Given the description of an element on the screen output the (x, y) to click on. 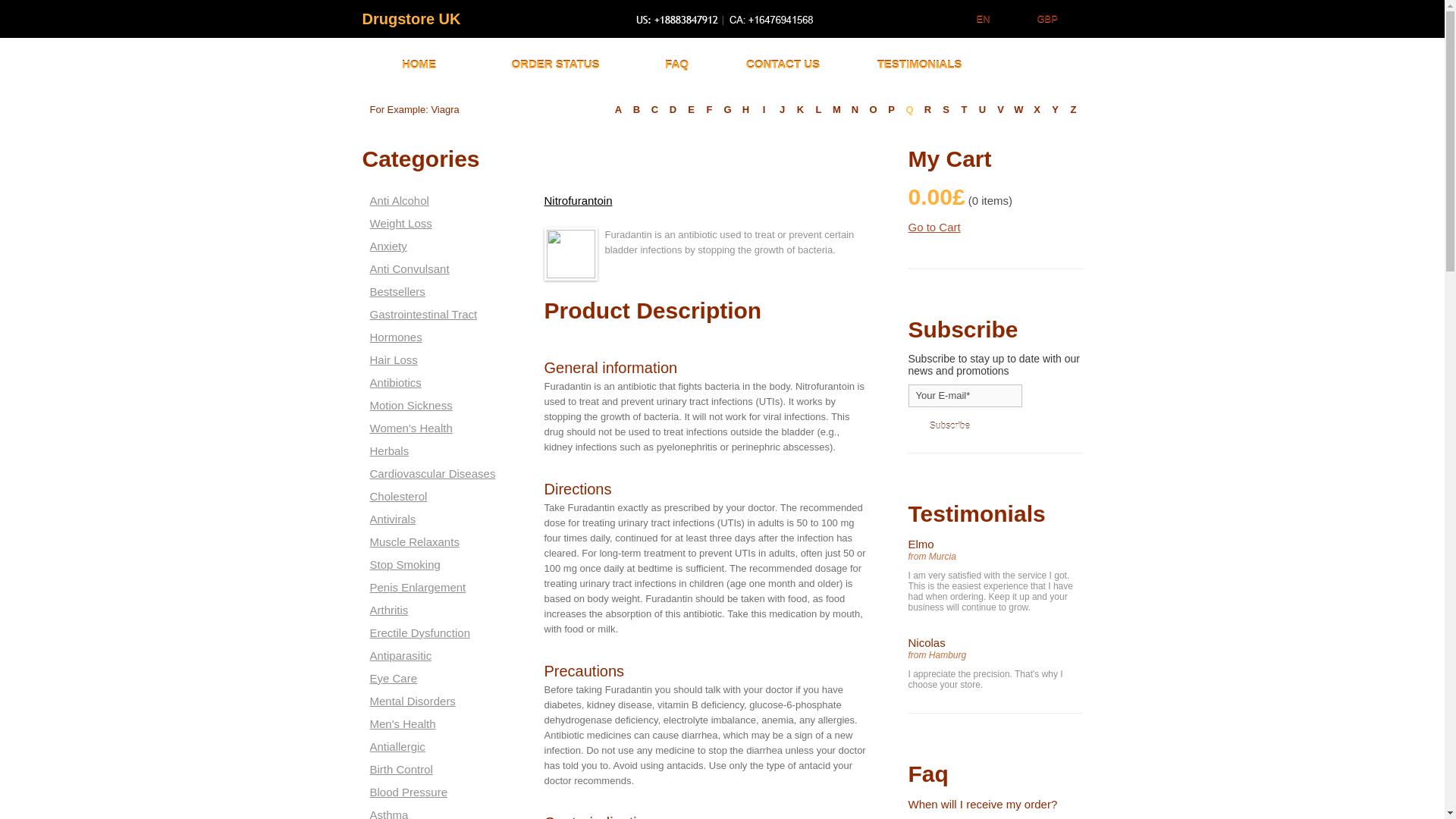
O (873, 109)
X (1036, 109)
R (927, 109)
Anxiety (434, 246)
TESTIMONIALS (919, 64)
For Example: Viagra (449, 109)
M (836, 109)
T (964, 109)
L (818, 109)
Drugstore UK (411, 18)
